Given the description of an element on the screen output the (x, y) to click on. 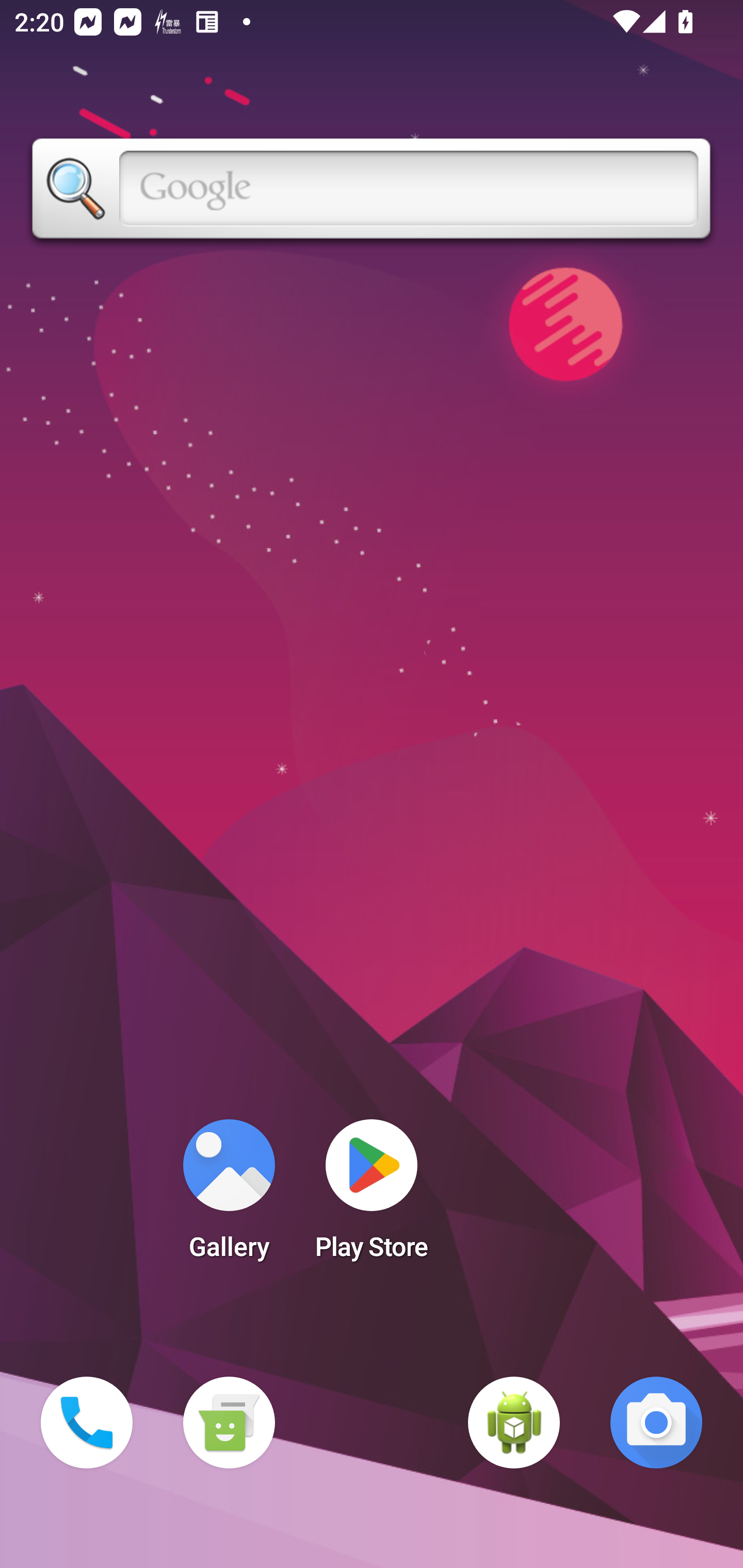
Gallery (228, 1195)
Play Store (371, 1195)
Phone (86, 1422)
Messaging (228, 1422)
WebView Browser Tester (513, 1422)
Camera (656, 1422)
